Given the description of an element on the screen output the (x, y) to click on. 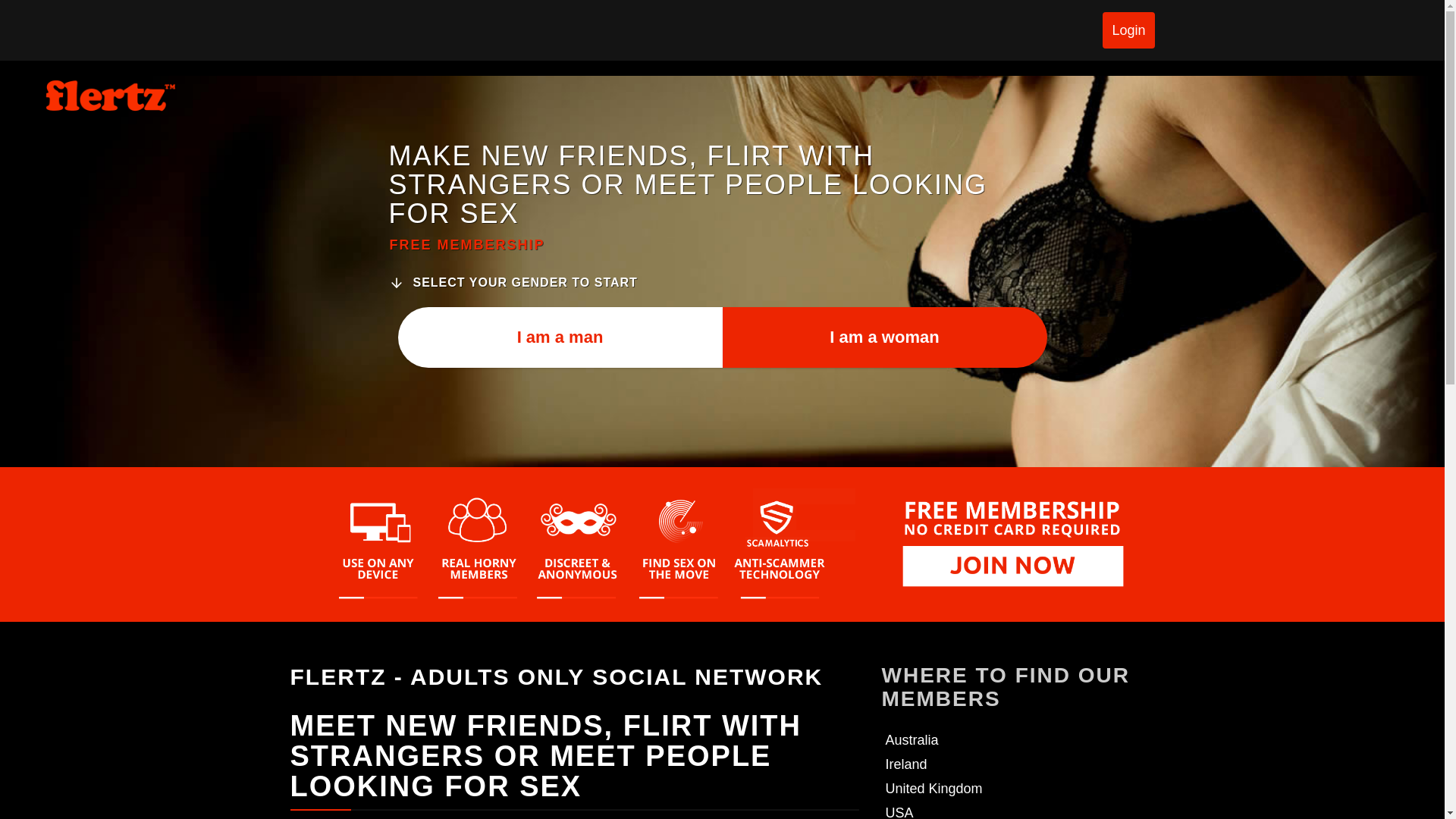
Ireland (906, 764)
Login (1128, 30)
USA (899, 812)
I am a man (559, 336)
United Kingdom (933, 788)
I am a woman (884, 336)
Australia (912, 739)
